Given the description of an element on the screen output the (x, y) to click on. 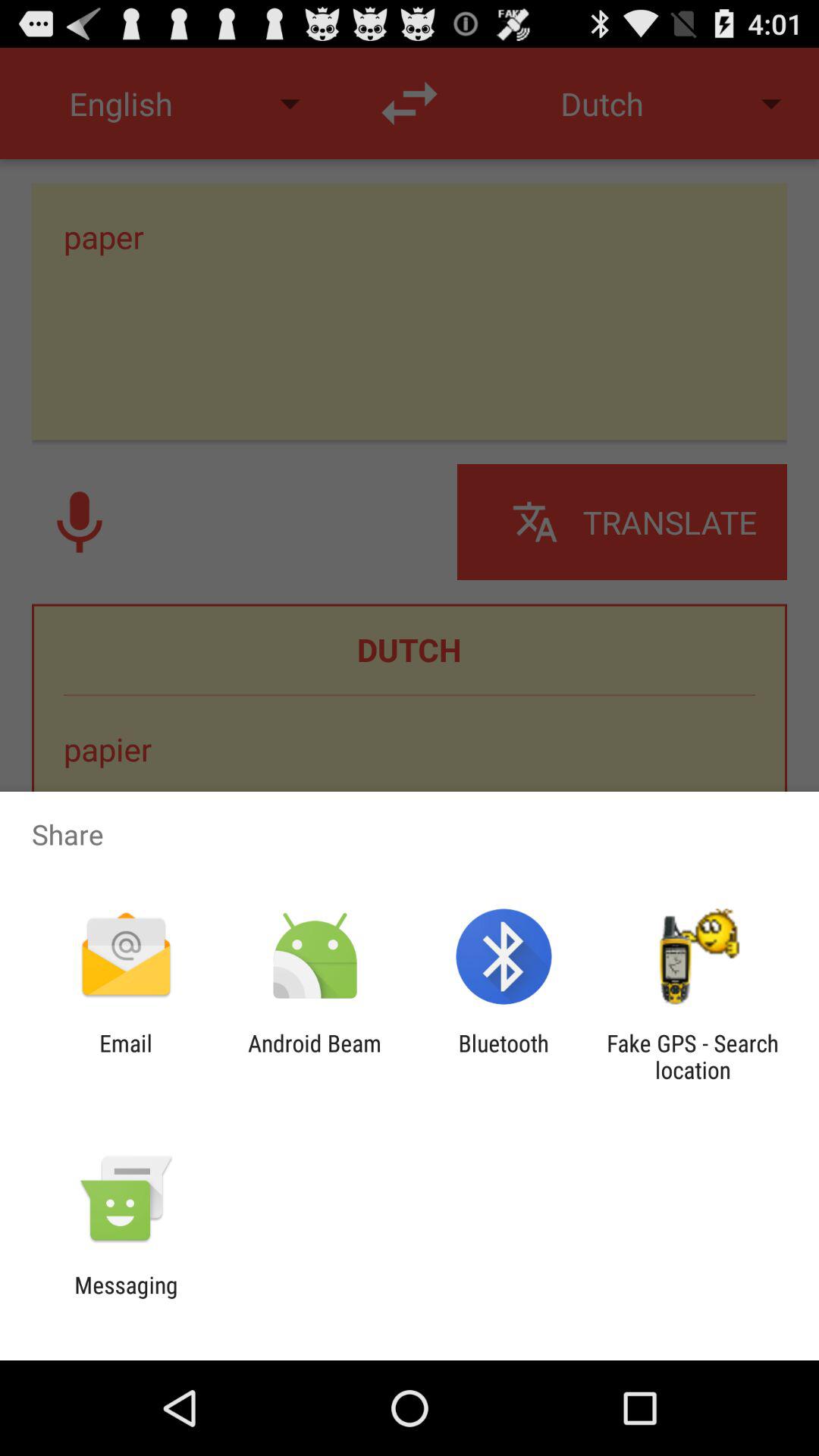
launch the item next to email icon (314, 1056)
